Given the description of an element on the screen output the (x, y) to click on. 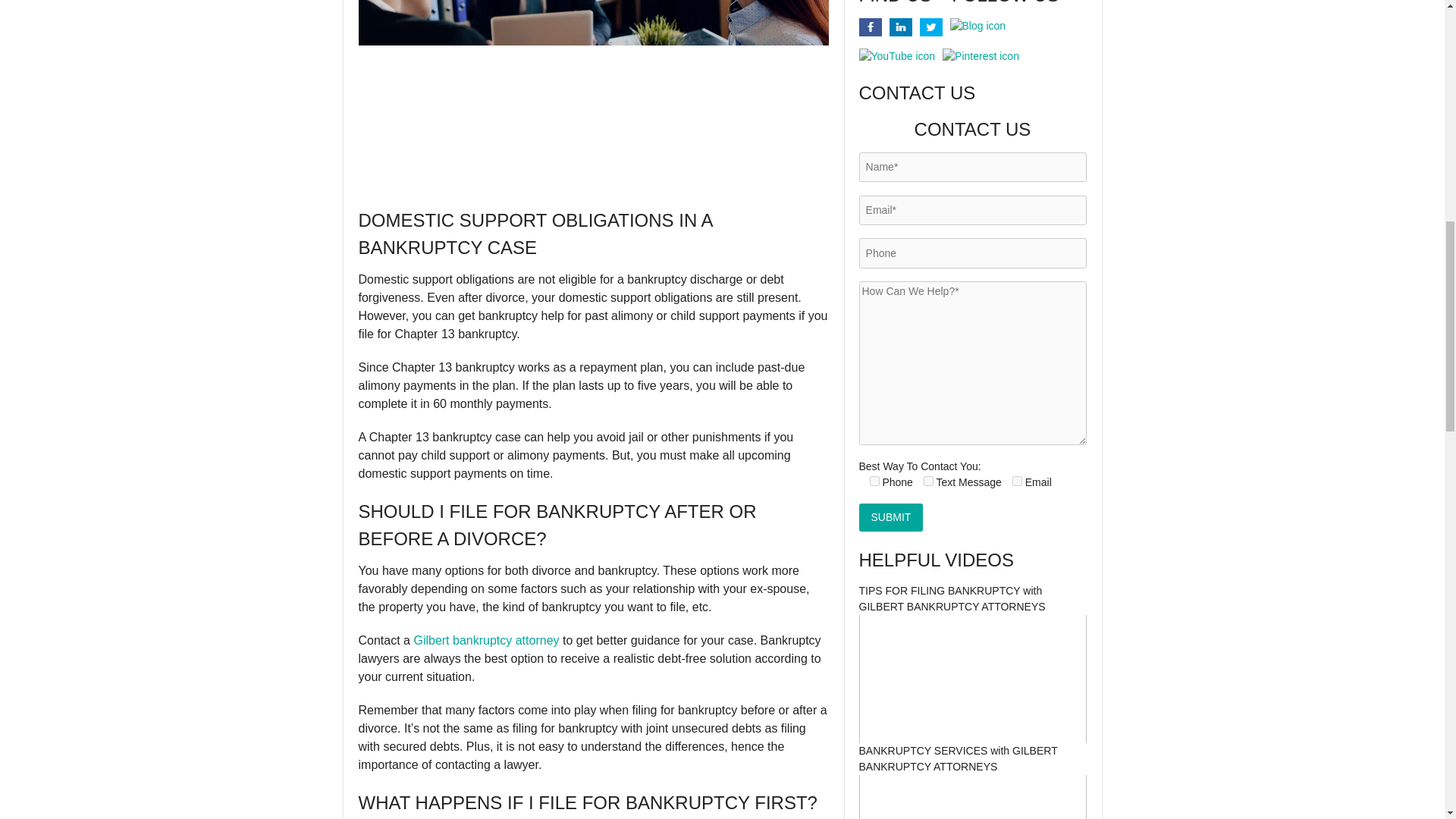
Text Message (928, 480)
Phone (874, 480)
SUBMIT (891, 517)
Gilbert bankruptcy attorney (486, 640)
SUBMIT (891, 517)
Email (1016, 480)
